Given the description of an element on the screen output the (x, y) to click on. 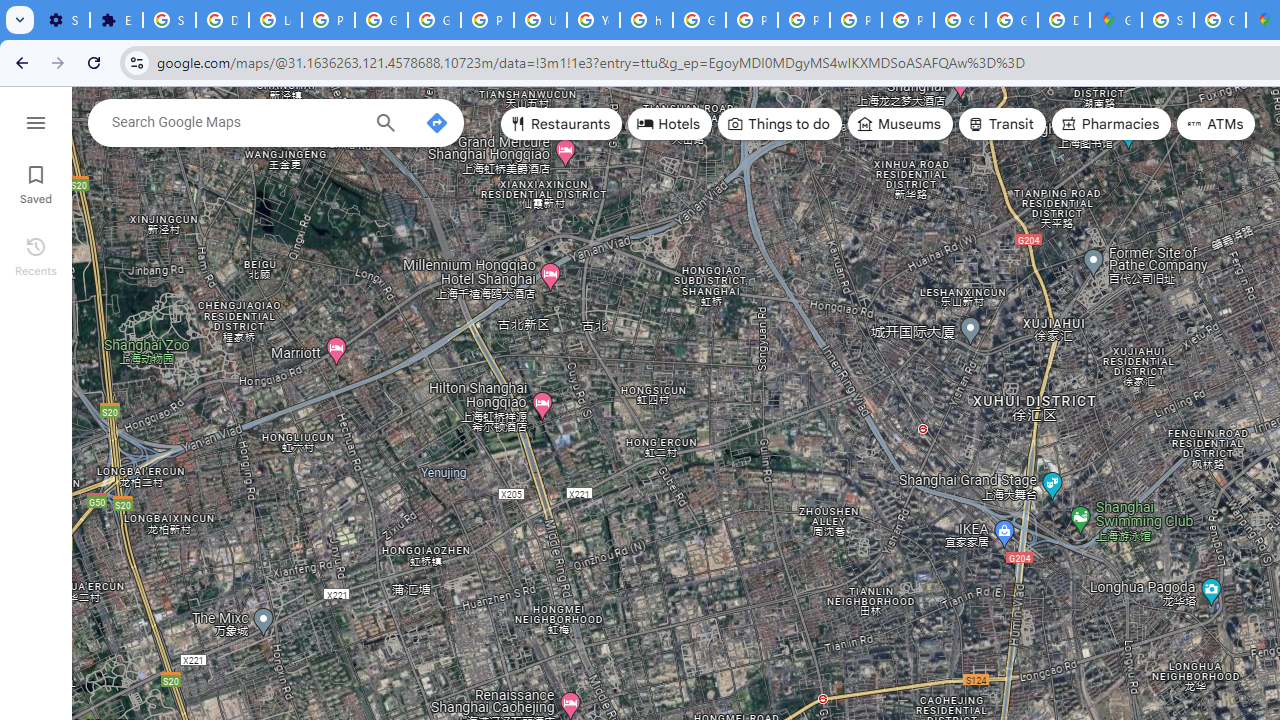
Things to do (780, 124)
Delete photos & videos - Computer - Google Photos Help (222, 20)
Restaurants (561, 124)
Sign in - Google Accounts (169, 20)
Saved (35, 182)
Hotels (670, 124)
Transit (1001, 124)
Google Account Help (381, 20)
Create your Google Account (1219, 20)
ATMs (1216, 124)
